Given the description of an element on the screen output the (x, y) to click on. 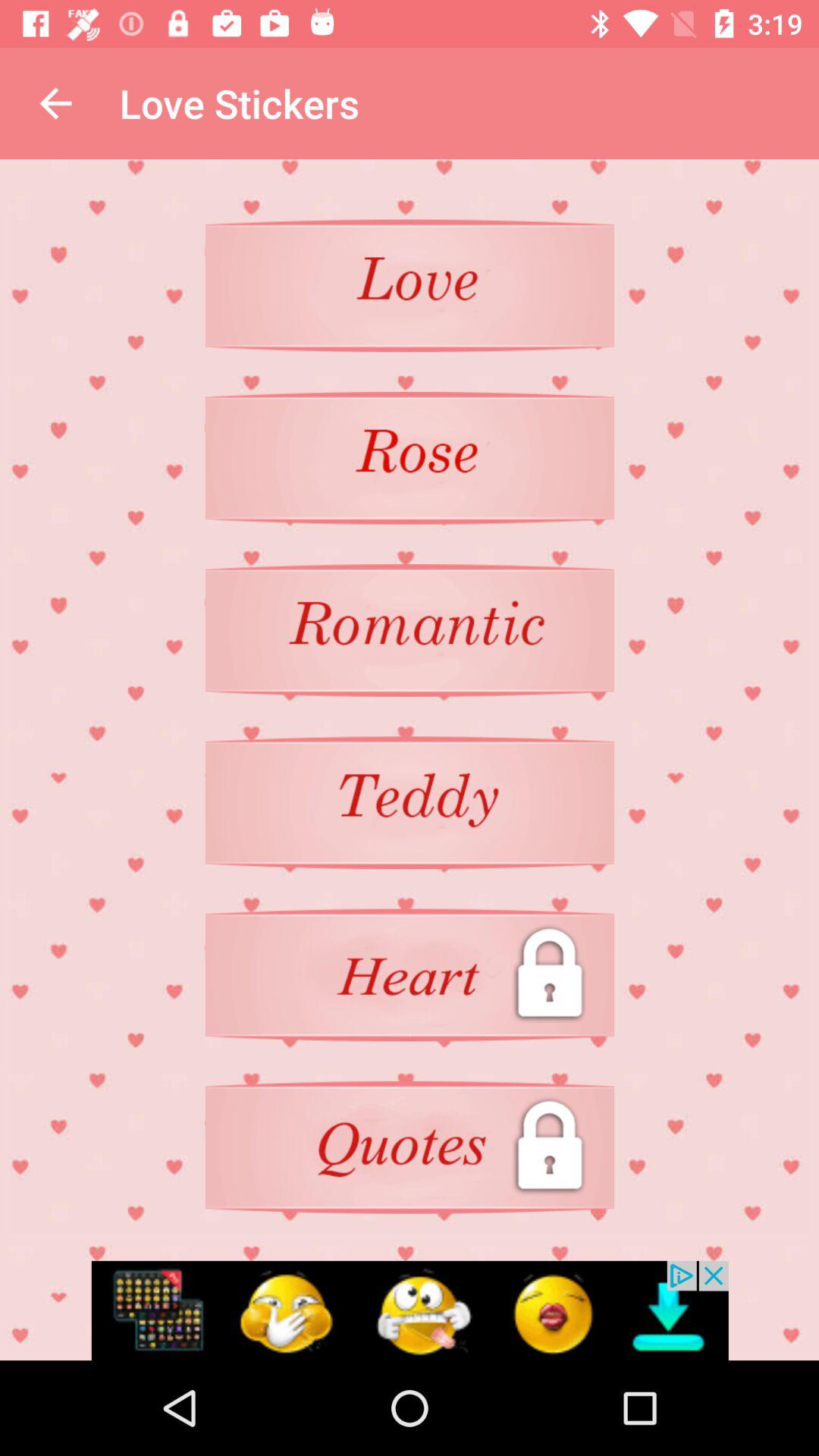
explore the advertisement (409, 1310)
